Given the description of an element on the screen output the (x, y) to click on. 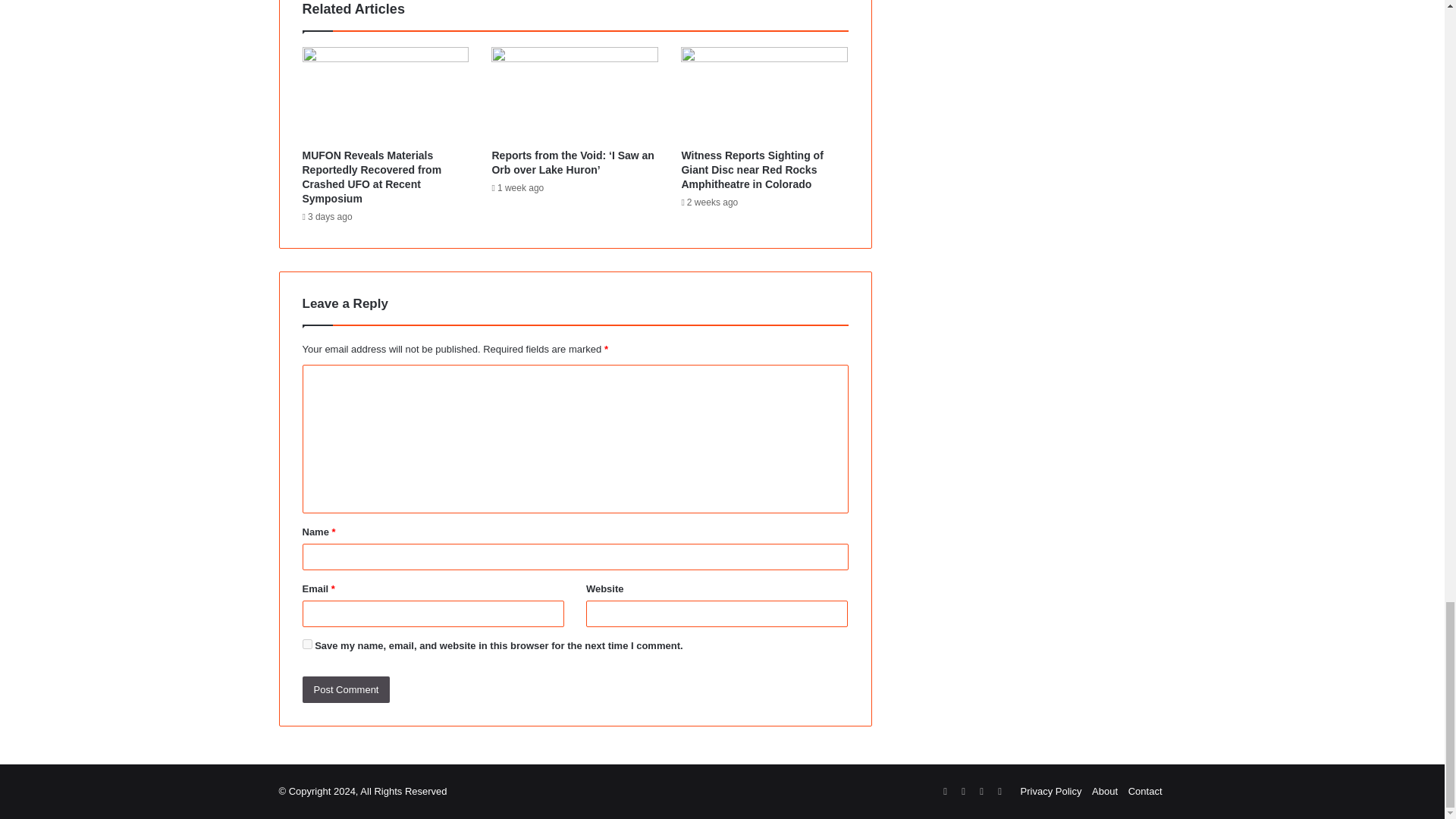
Post Comment (345, 689)
yes (306, 644)
